Given the description of an element on the screen output the (x, y) to click on. 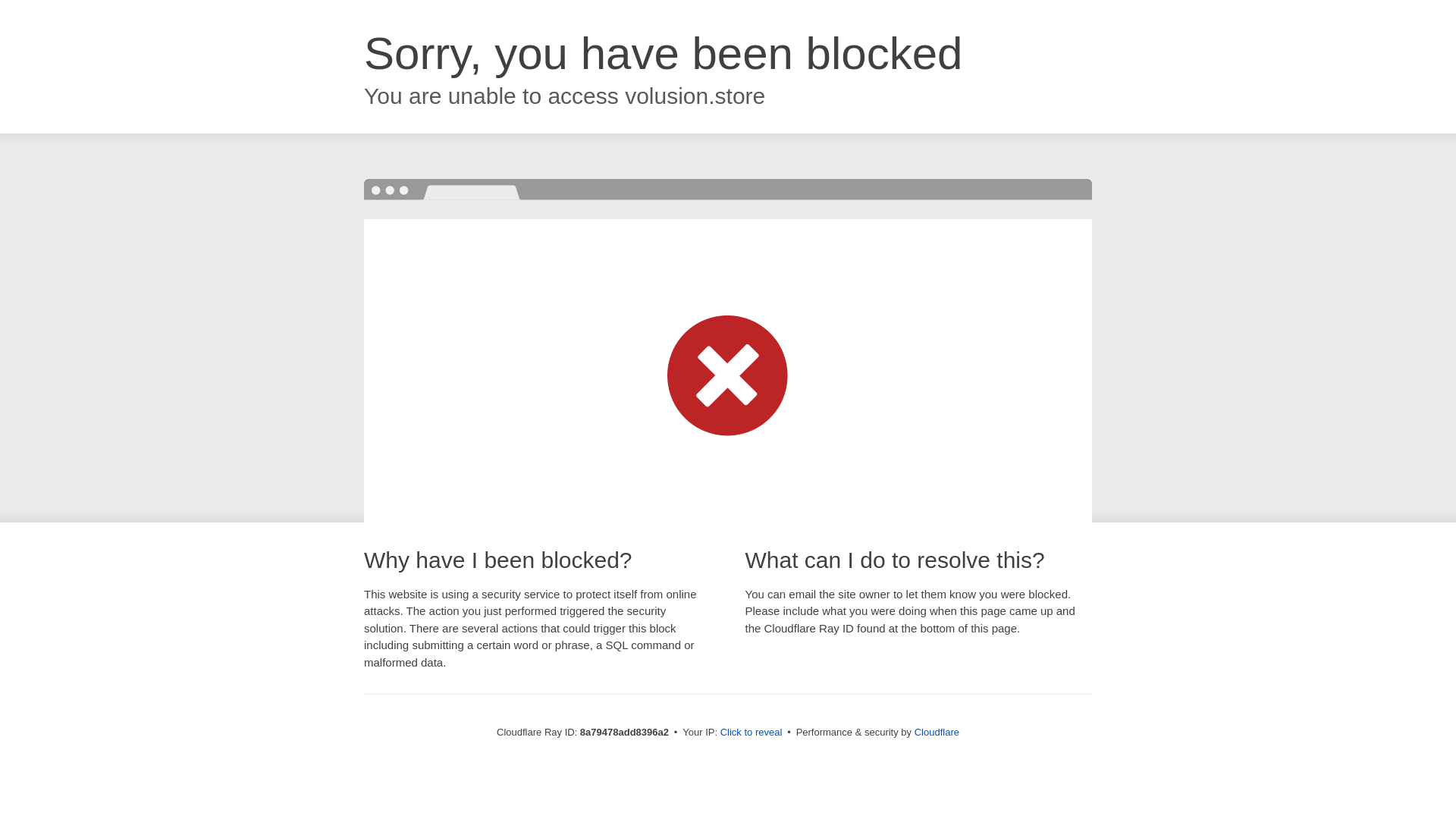
Cloudflare (936, 731)
Click to reveal (751, 732)
